Given the description of an element on the screen output the (x, y) to click on. 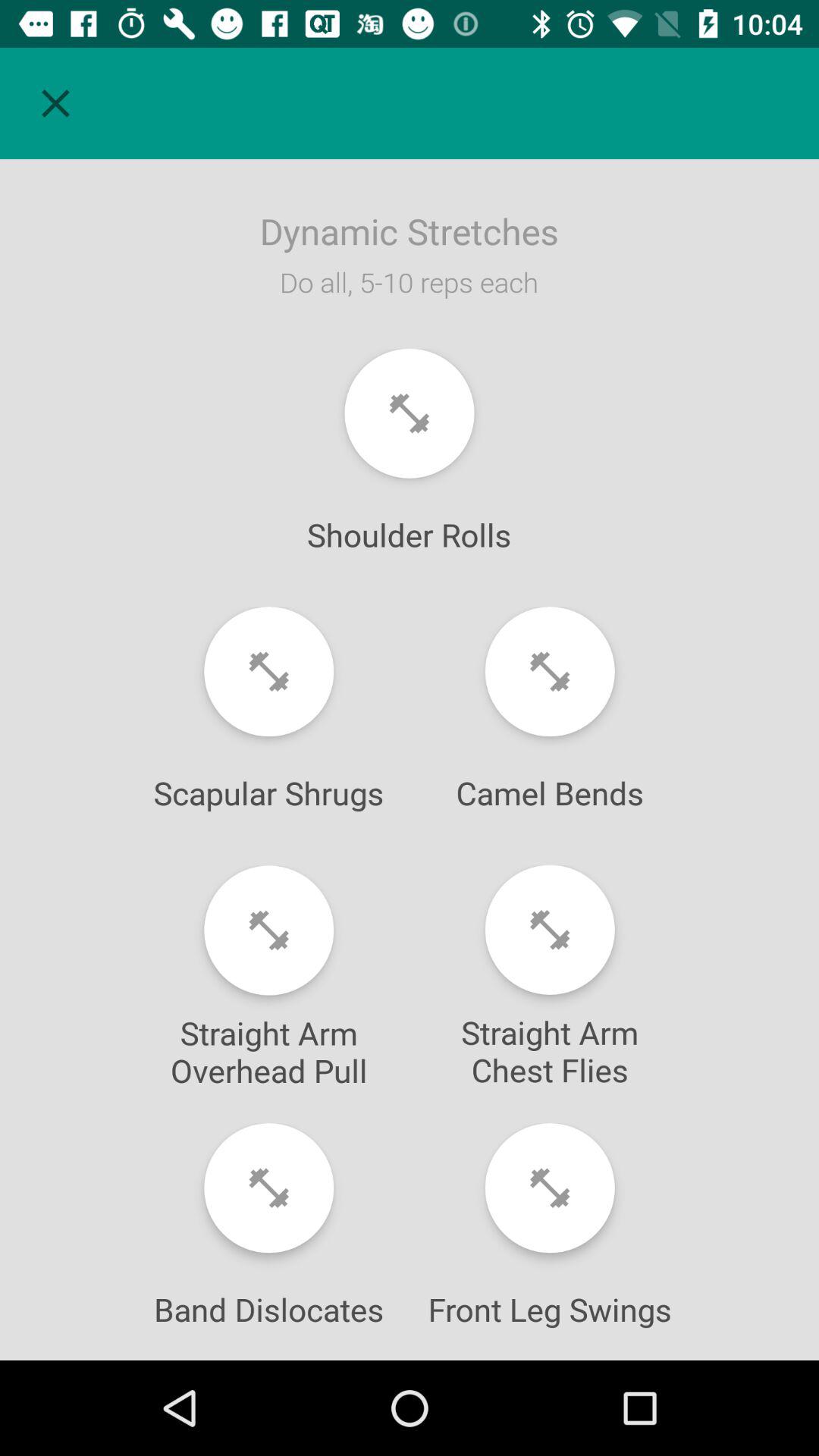
begin front leg swings (549, 1187)
